Given the description of an element on the screen output the (x, y) to click on. 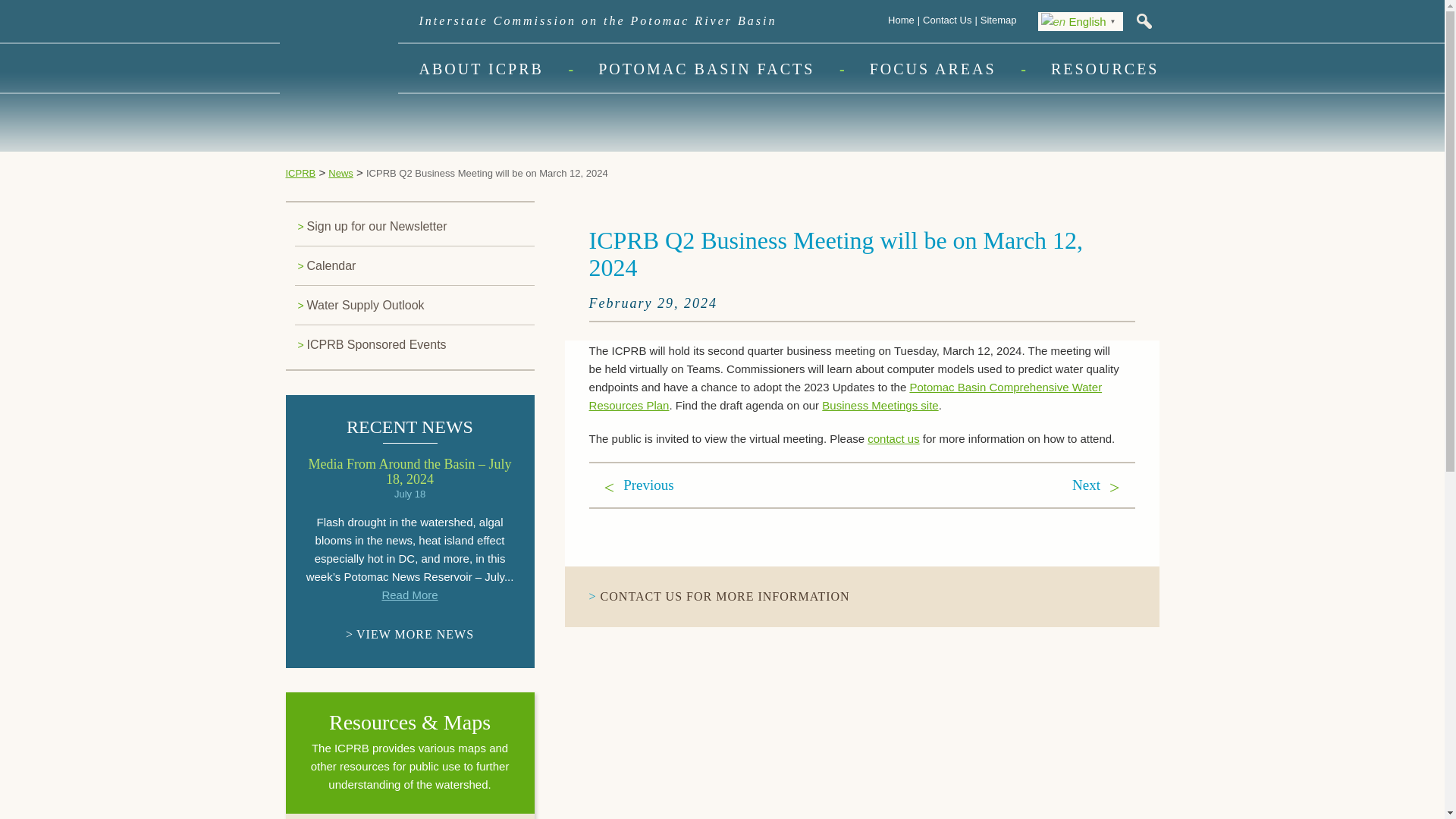
Sitemap (997, 19)
Home (901, 19)
View More News (410, 634)
Focus Areas (932, 68)
ABOUT ICPRB (481, 68)
LinkedIn (8, 330)
Contact us for more information (724, 595)
POTOMAC BASIN FACTS (705, 68)
Twitter (8, 348)
ICPRB (308, 15)
About ICPRB (481, 68)
Resources (1104, 68)
Go to News. (341, 173)
Go to ICPRB. (300, 173)
